Given the description of an element on the screen output the (x, y) to click on. 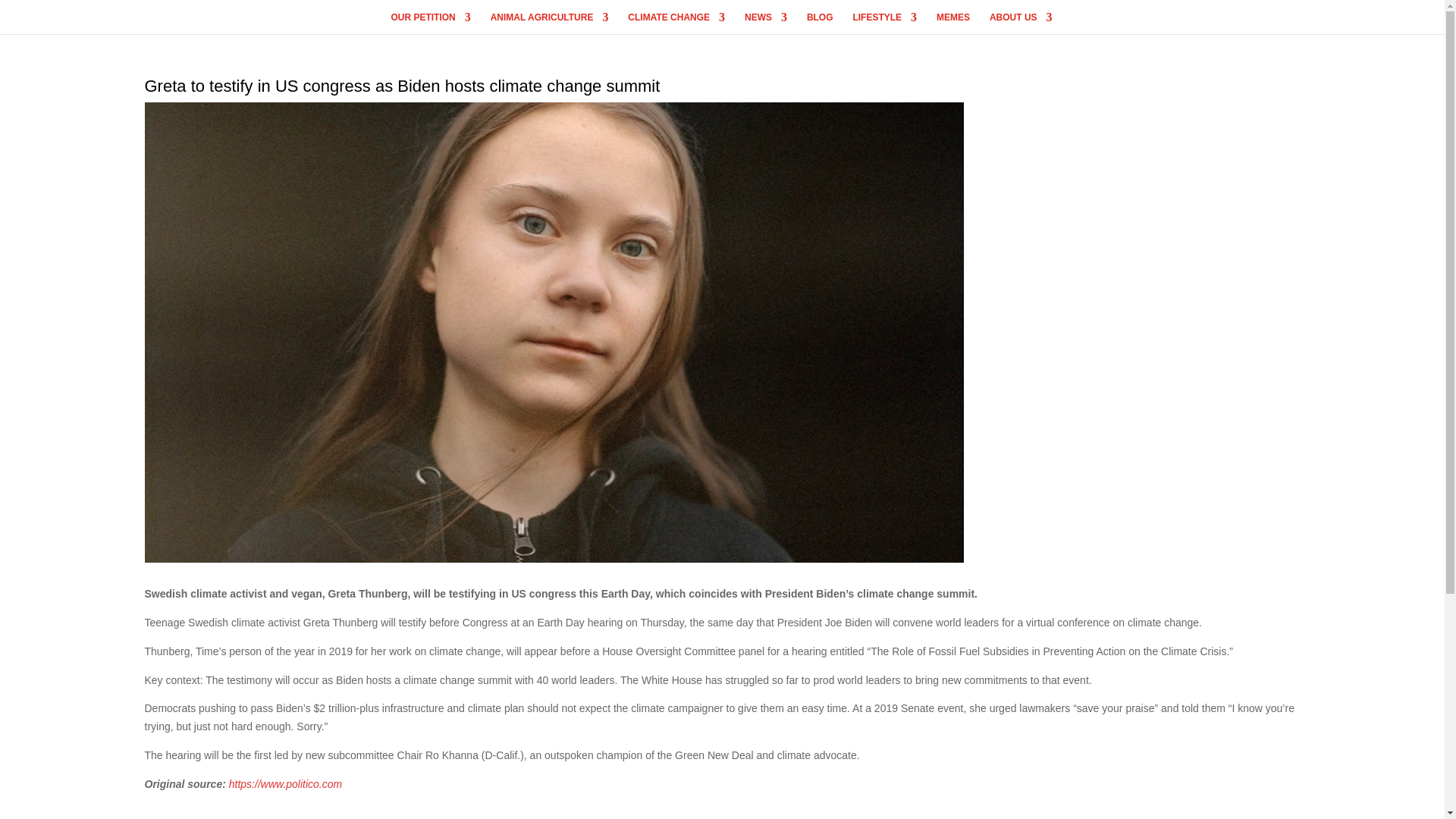
BLOG (819, 23)
OUR PETITION (430, 23)
NEWS (765, 23)
MEMES (952, 23)
ABOUT US (1021, 23)
ANIMAL AGRICULTURE (549, 23)
CLIMATE CHANGE (676, 23)
LIFESTYLE (884, 23)
